Given the description of an element on the screen output the (x, y) to click on. 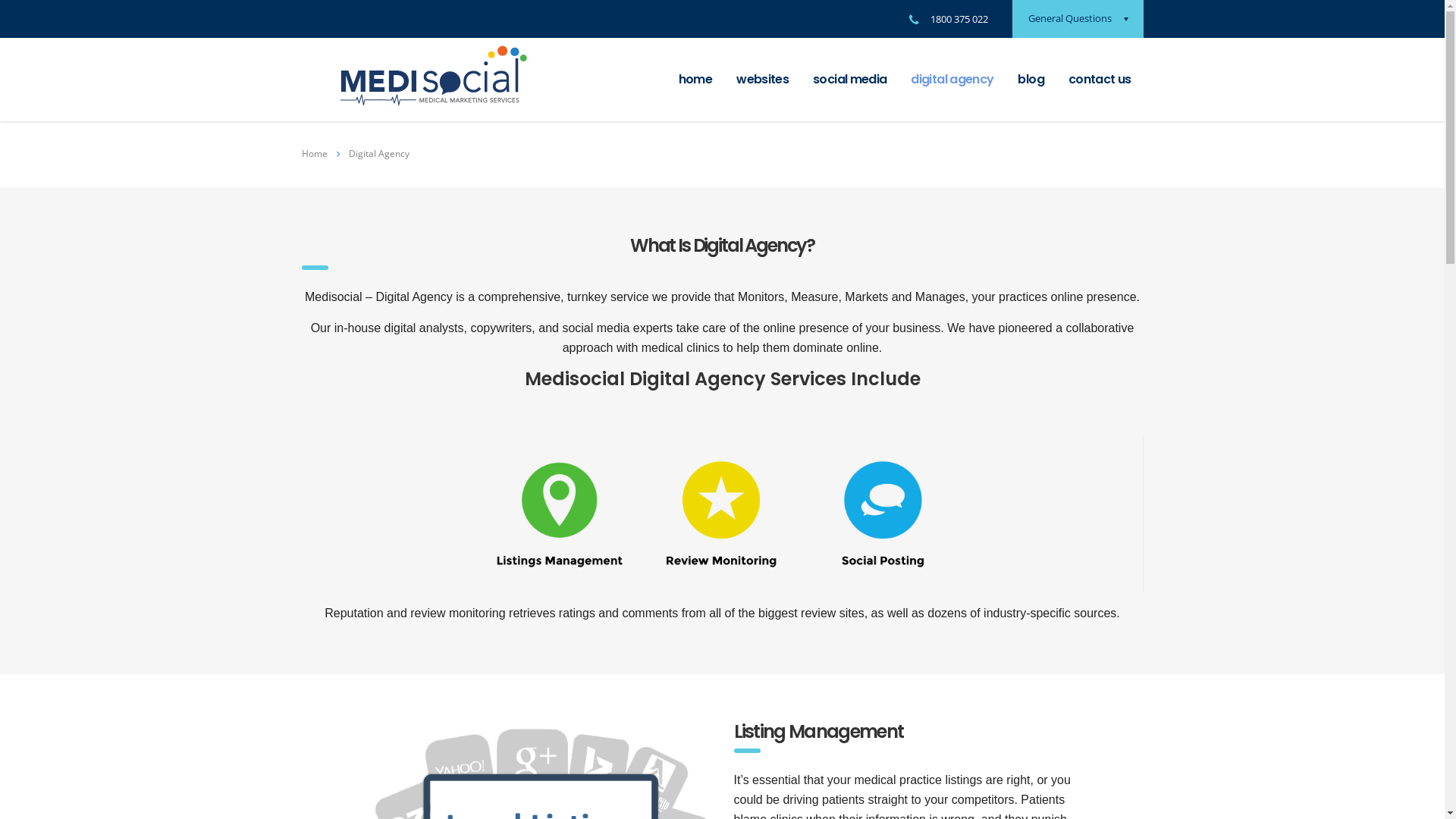
1800 375 022 Element type: text (958, 18)
websites Element type: text (762, 79)
blog Element type: text (1030, 79)
contact us Element type: text (1099, 79)
digital agency Element type: text (951, 79)
social media Element type: text (849, 79)
home Element type: text (695, 79)
Home Element type: text (314, 153)
